Given the description of an element on the screen output the (x, y) to click on. 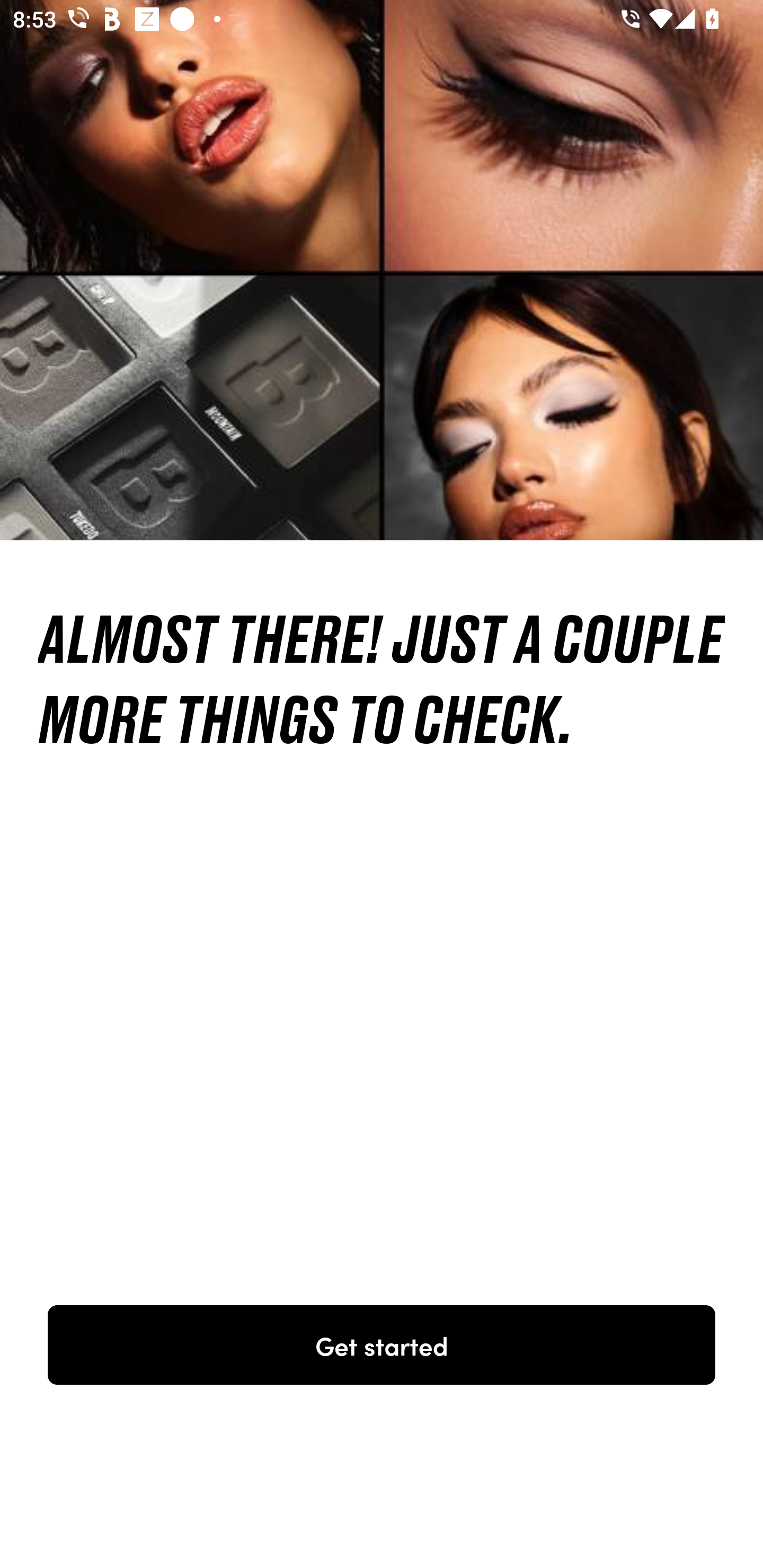
Get started (381, 1344)
